Given the description of an element on the screen output the (x, y) to click on. 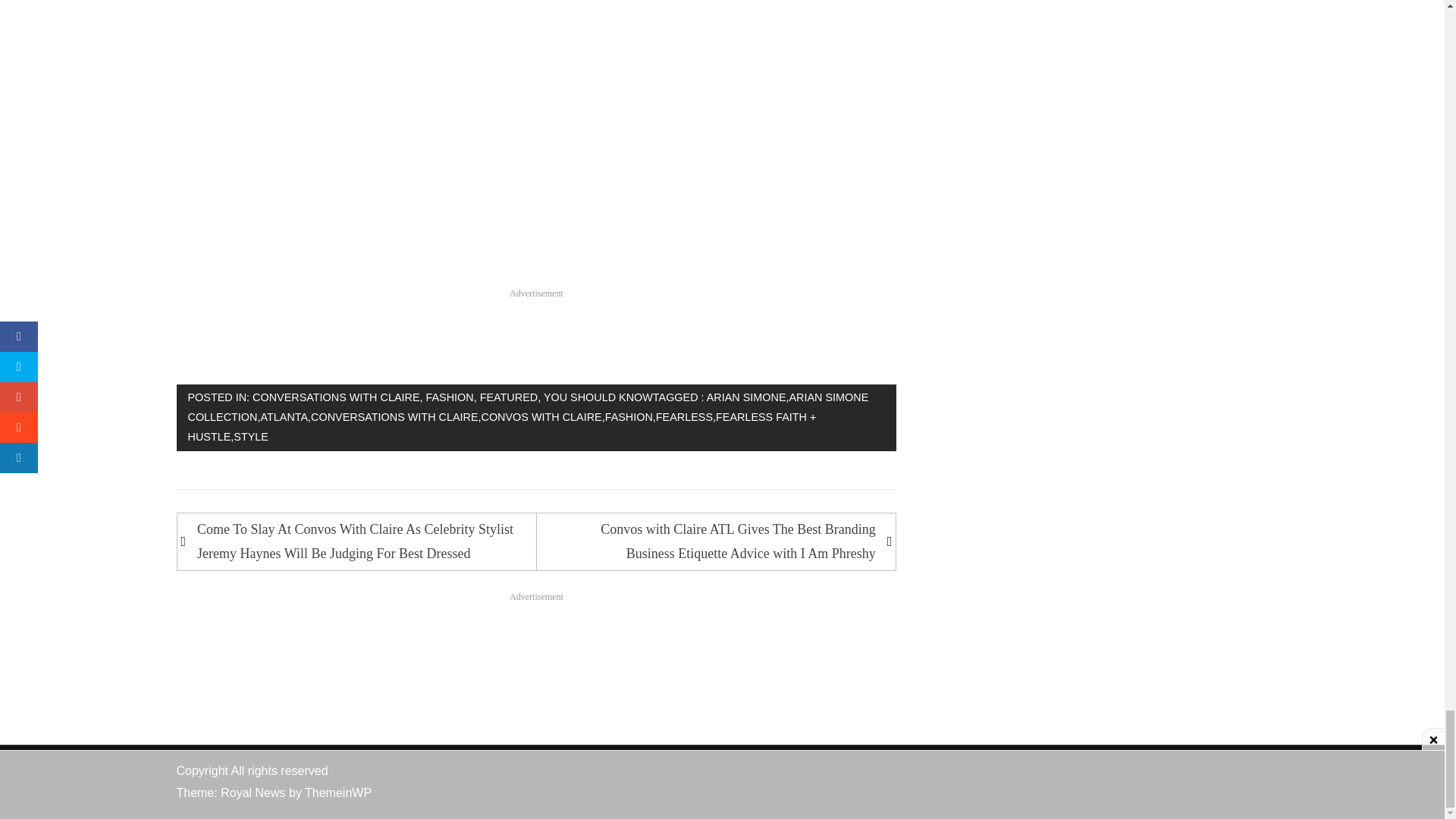
3rd party ad content (536, 332)
3rd party ad content (536, 635)
